Given the description of an element on the screen output the (x, y) to click on. 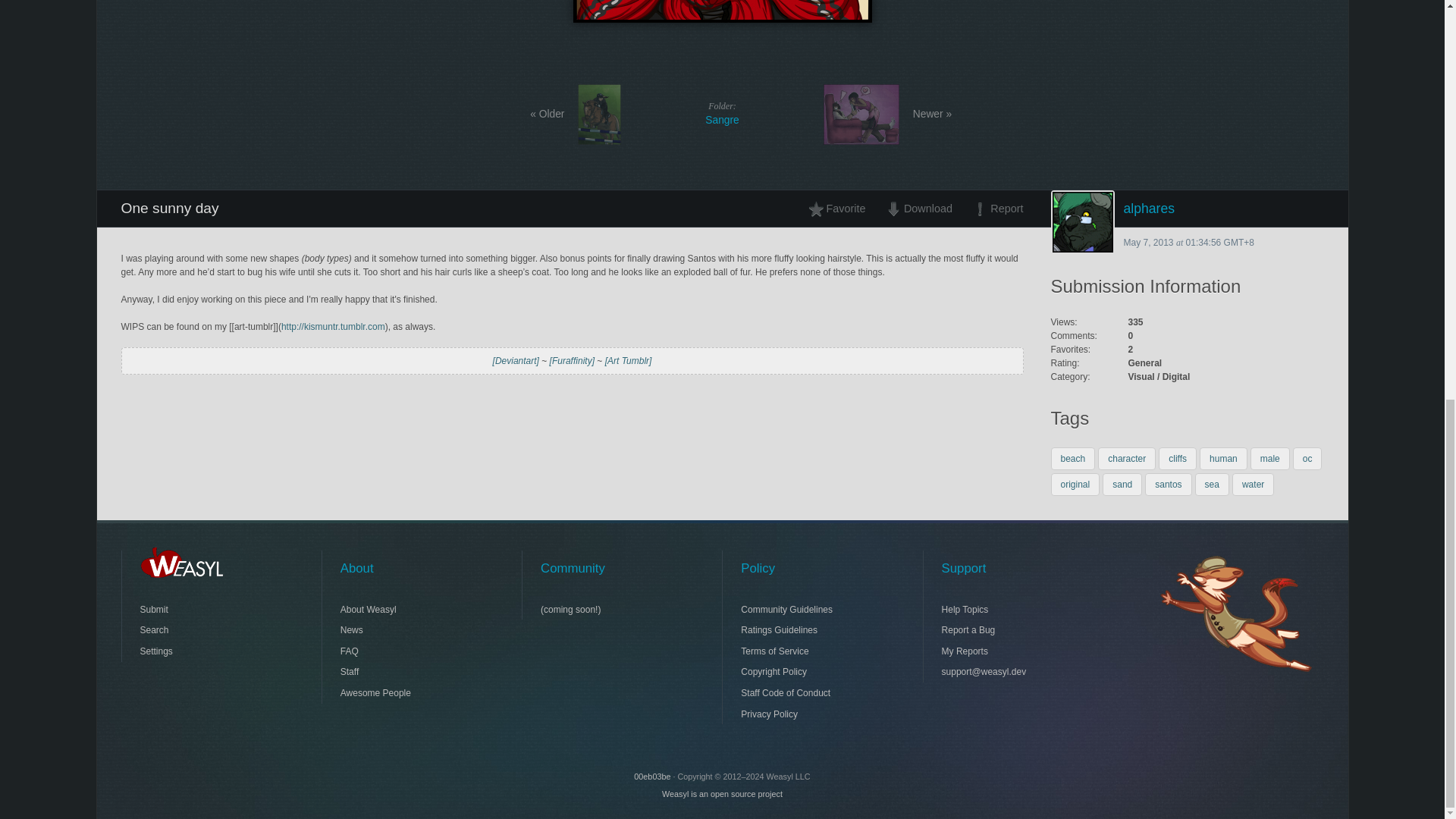
Report (993, 208)
cliffs (1177, 458)
sea (1211, 484)
santos (1167, 484)
original (1075, 484)
Download (918, 208)
human (1223, 458)
sand (1121, 484)
oc (1307, 458)
character (1126, 458)
alphares (721, 113)
male (1187, 208)
Favorite (1270, 458)
beach (841, 208)
